Given the description of an element on the screen output the (x, y) to click on. 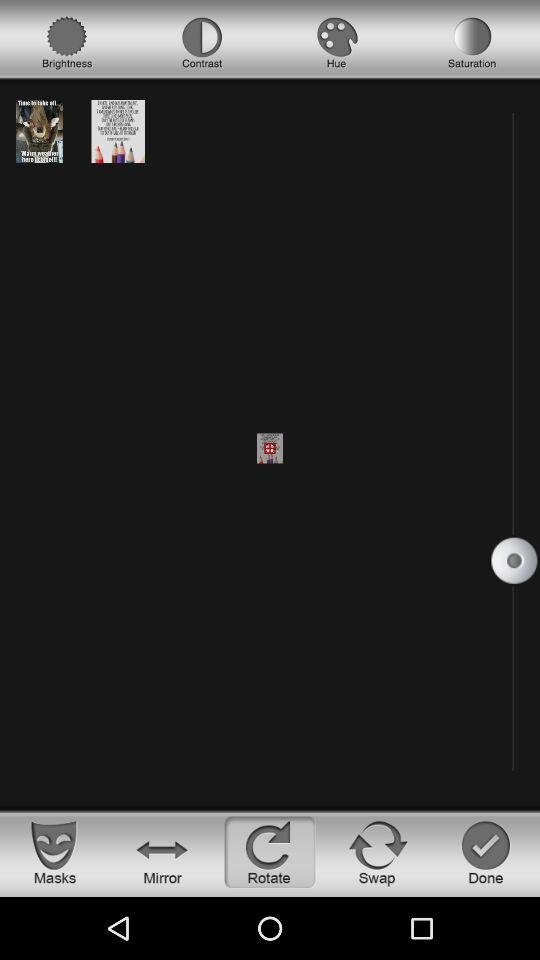
adjust the brightness (67, 43)
